Given the description of an element on the screen output the (x, y) to click on. 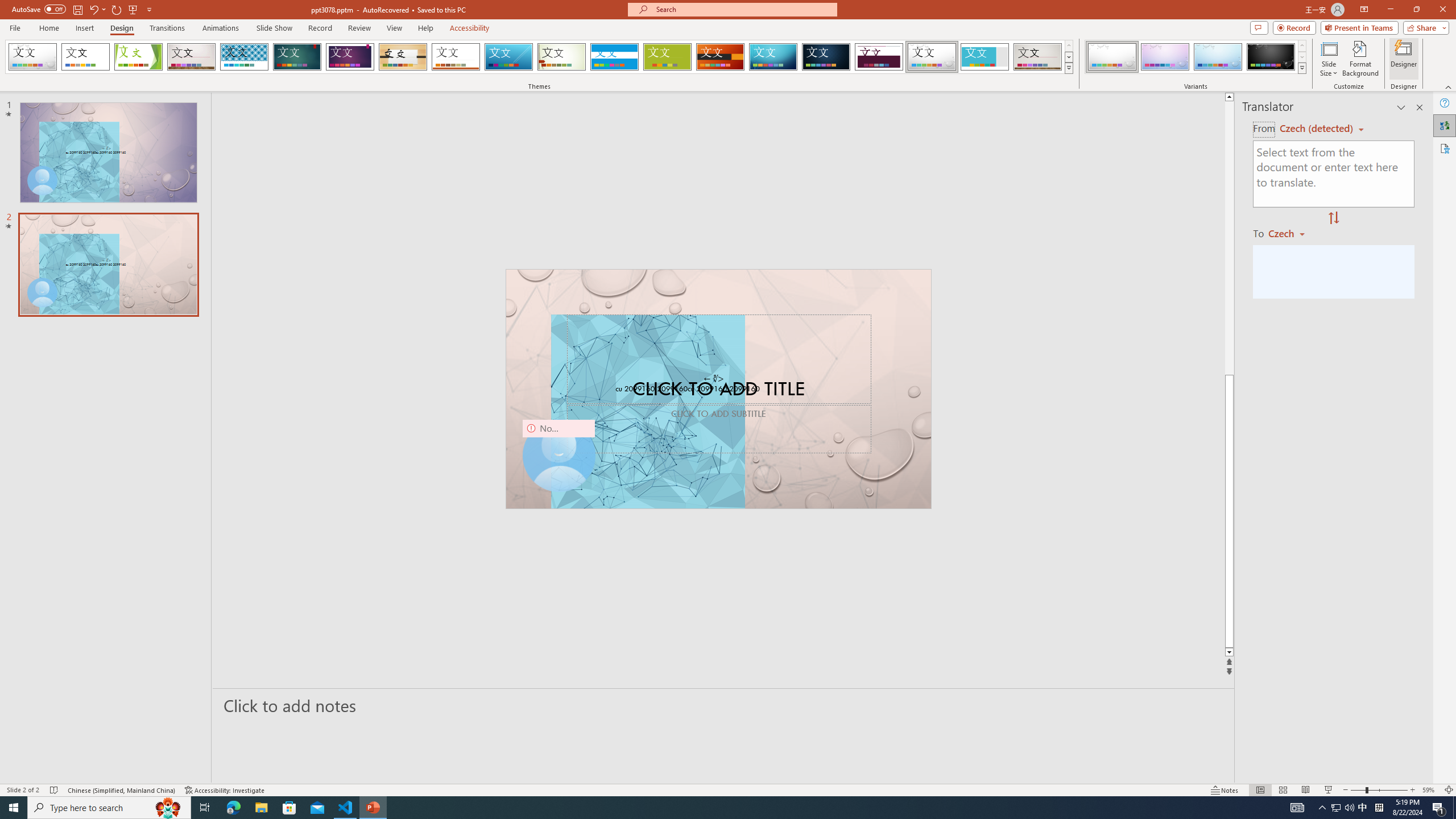
Slide Size (1328, 58)
Droplet (931, 56)
Slice (508, 56)
Czech (1291, 232)
Facet (138, 56)
